Given the description of an element on the screen output the (x, y) to click on. 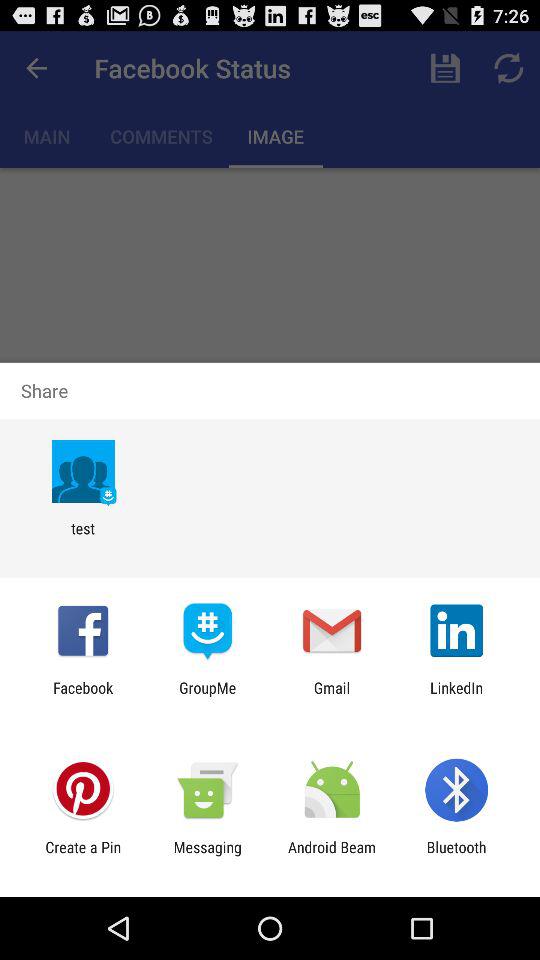
turn on the icon to the right of the gmail icon (456, 696)
